Given the description of an element on the screen output the (x, y) to click on. 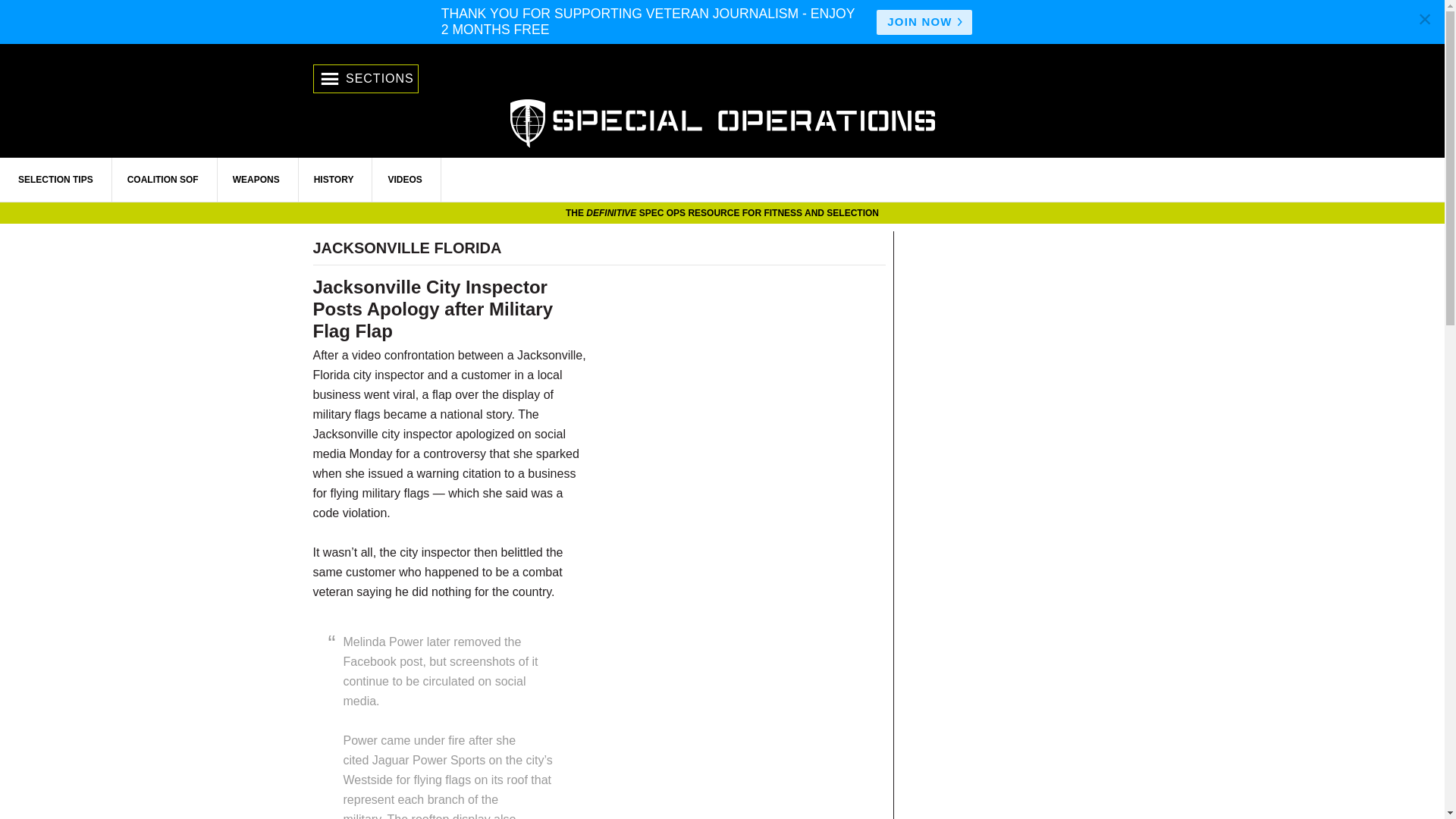
SPECIALOPERATIONS.COM (722, 121)
WEAPONS (256, 179)
COALITION SOF (162, 179)
SECTIONS (365, 78)
SELECTION TIPS (56, 179)
JOIN NOW (924, 22)
VIDEOS (405, 179)
HISTORY (333, 179)
